Given the description of an element on the screen output the (x, y) to click on. 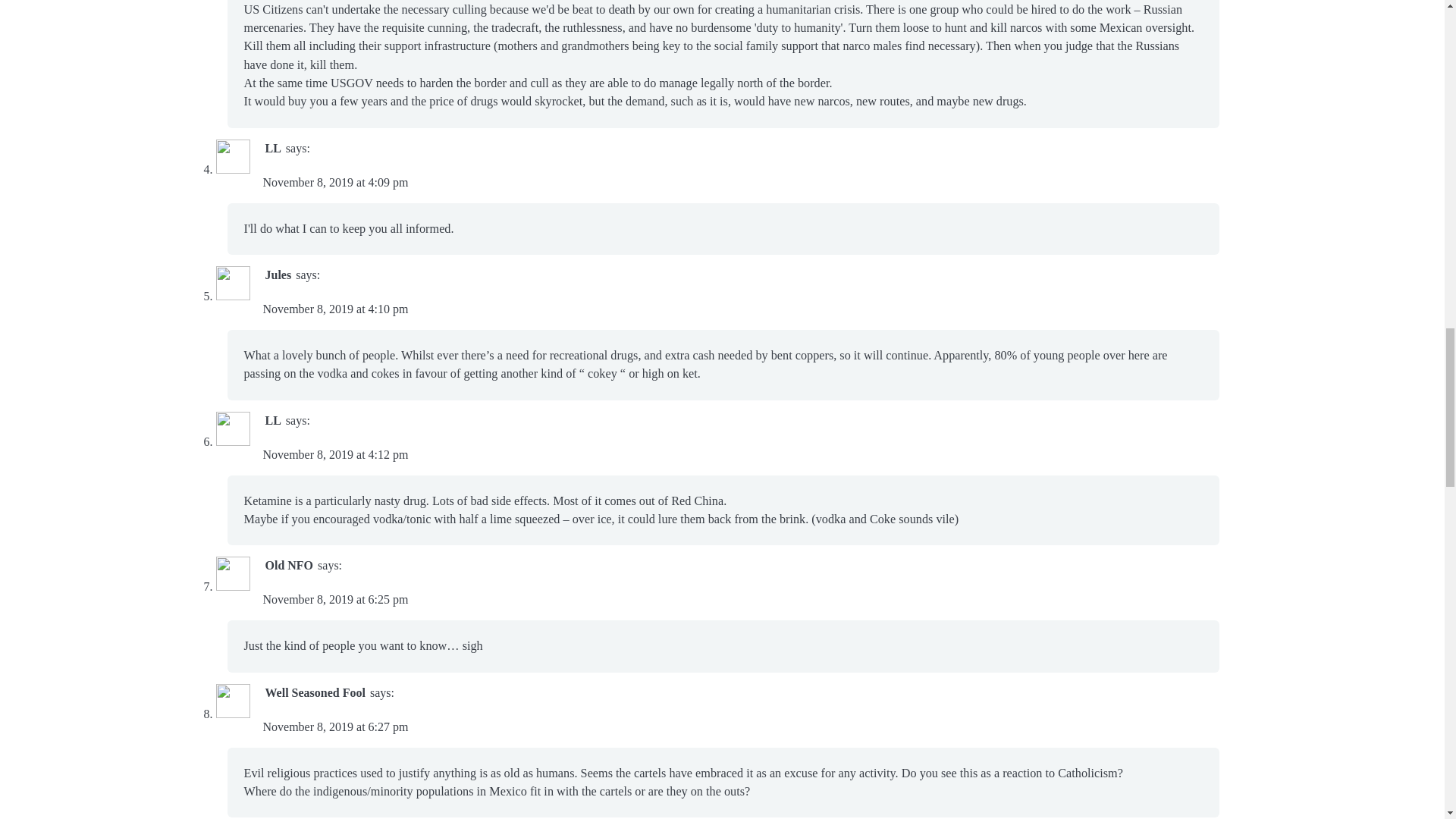
November 8, 2019 at 6:25 pm (334, 599)
November 8, 2019 at 4:09 pm (334, 182)
November 8, 2019 at 4:12 pm (334, 454)
November 8, 2019 at 4:10 pm (334, 308)
November 8, 2019 at 6:27 pm (334, 726)
